Given the description of an element on the screen output the (x, y) to click on. 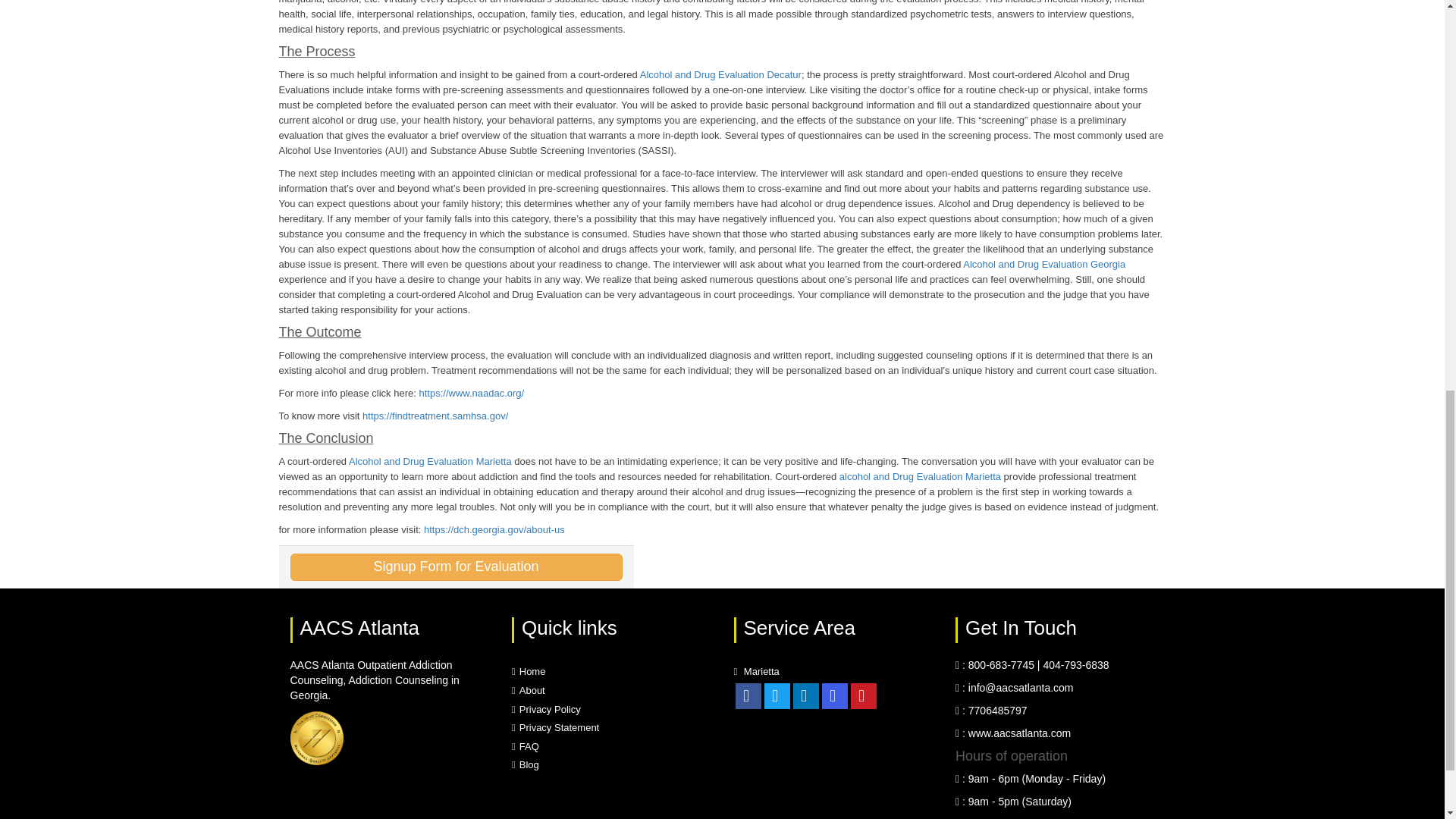
facebook (748, 696)
linkedin (805, 696)
instagam (834, 696)
pinterest (863, 696)
twitter (777, 696)
